Given the description of an element on the screen output the (x, y) to click on. 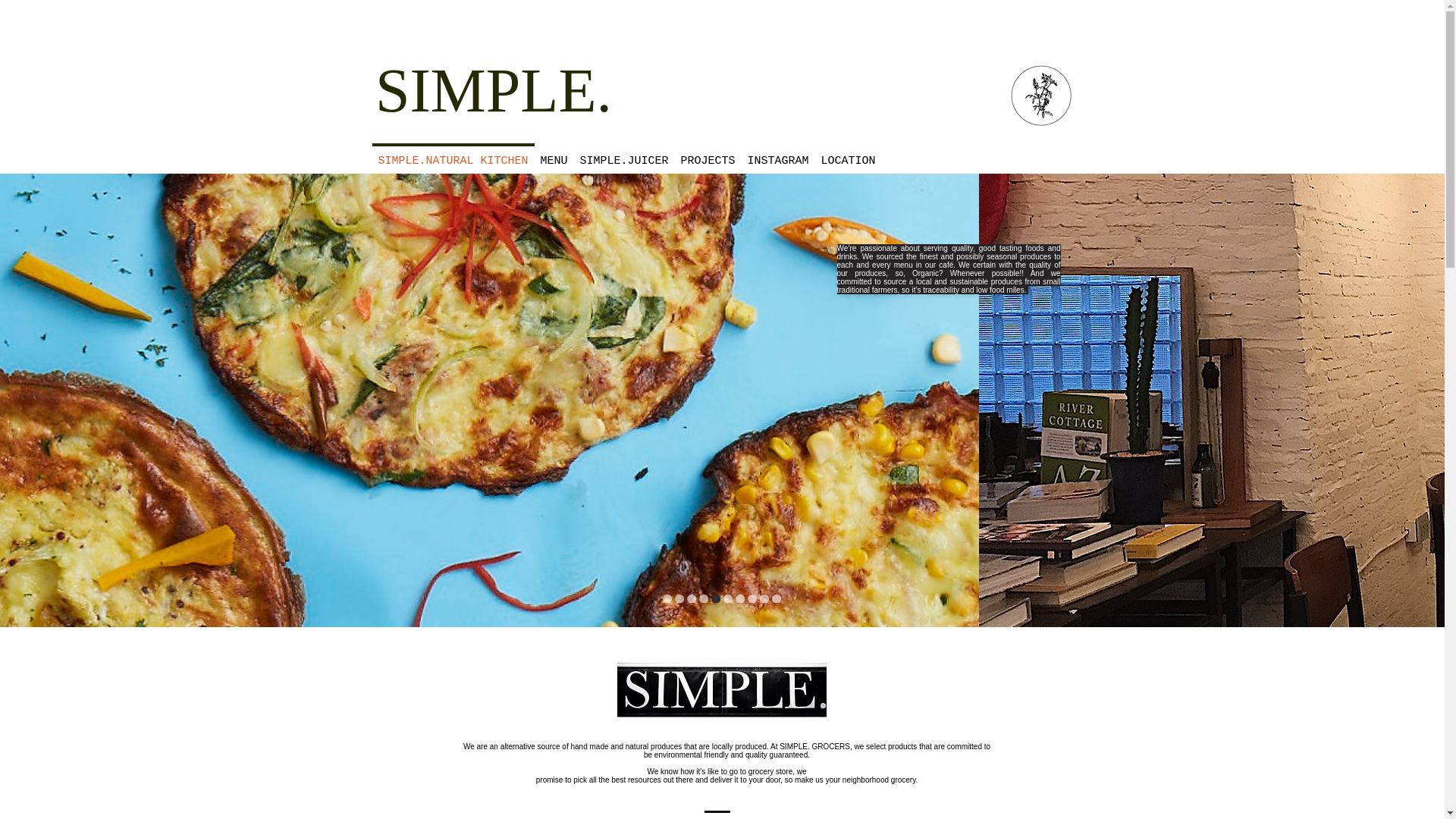
SIMPLE.JUICER (623, 154)
SIMPLE. (493, 90)
INSTAGRAM (778, 154)
LOCATION (846, 154)
SIMPLE.NATURAL KITCHEN (452, 154)
MENU (553, 154)
PROJECTS (708, 154)
